Given the description of an element on the screen output the (x, y) to click on. 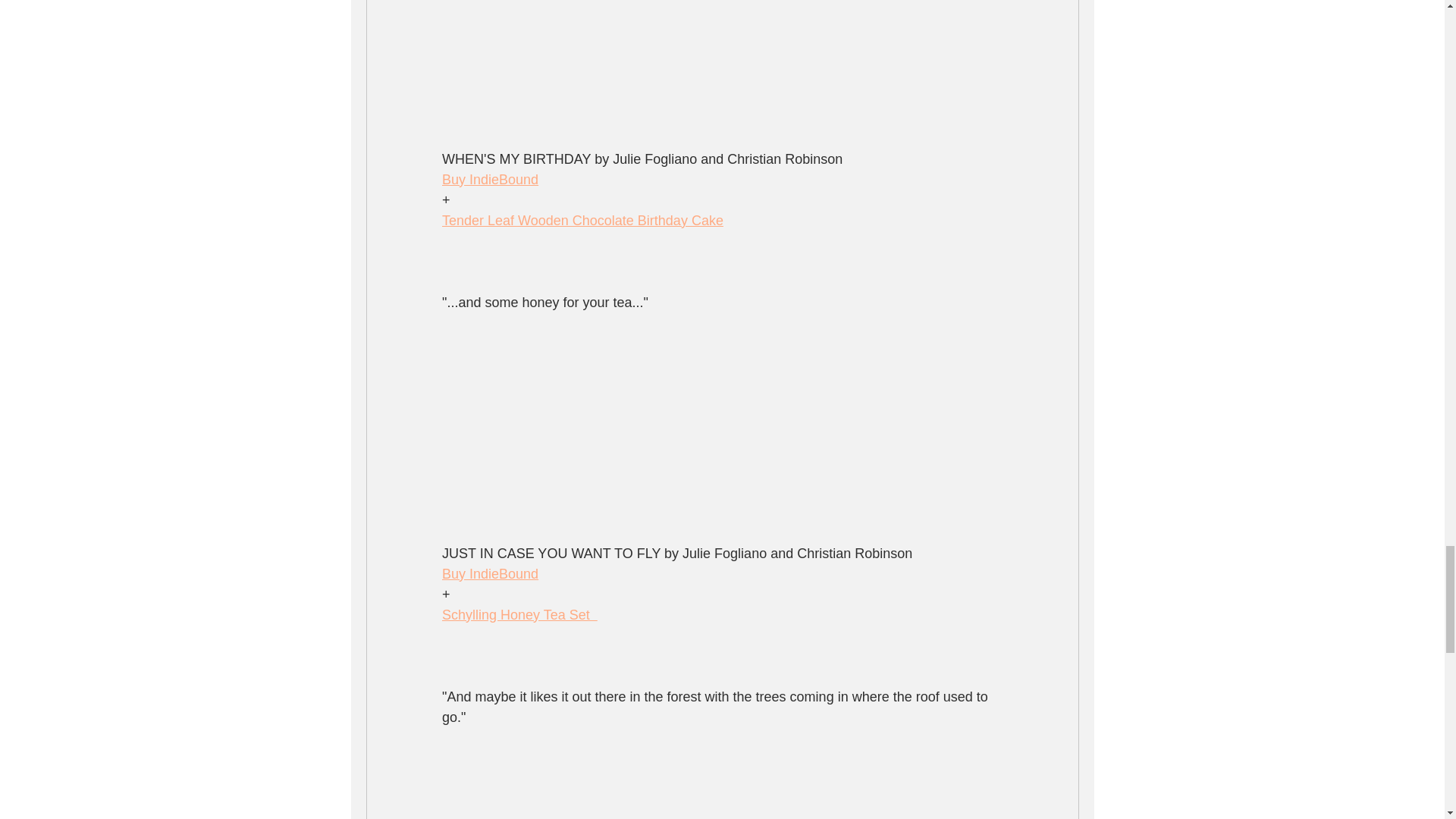
Buy IndieBound (489, 179)
Schylling Honey Tea Set   (518, 614)
Buy IndieBound (489, 573)
Tender Leaf Wooden Chocolate Birthday Cake (581, 220)
